Given the description of an element on the screen output the (x, y) to click on. 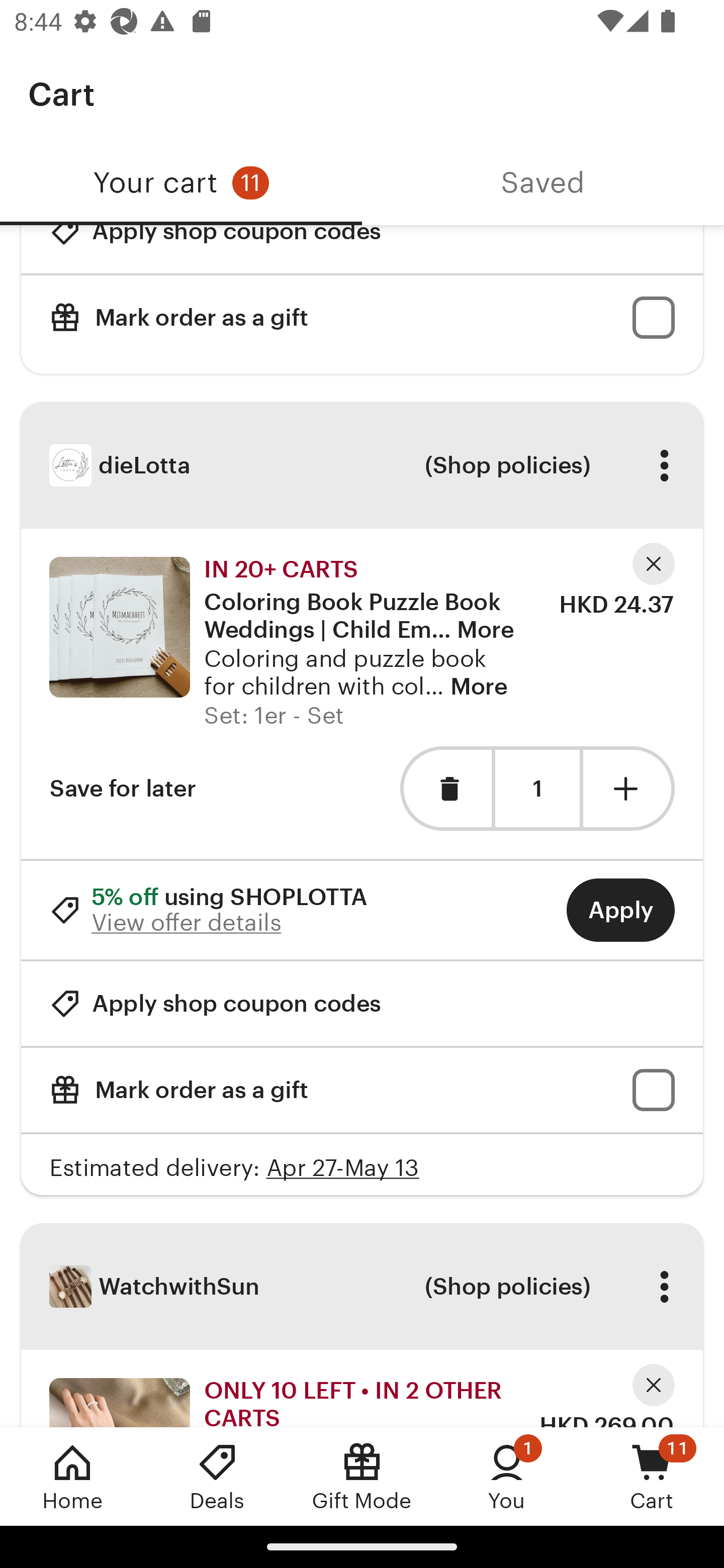
Saved, tab 2 of 2 Saved (543, 183)
Apply shop coupon codes (215, 248)
Mark order as a gift (361, 317)
dieLotta (Shop policies) More options (361, 464)
(Shop policies) (507, 465)
More options (663, 465)
Save for later (122, 788)
Remove item from cart (445, 788)
Add one unit to cart (628, 788)
1 (537, 788)
5% off using SHOPLOTTA View offer details Apply (361, 909)
Apply (620, 909)
Apply shop coupon codes (215, 1003)
Mark order as a gift (361, 1089)
WatchwithSun (Shop policies) More options (361, 1286)
(Shop policies) (507, 1286)
More options (663, 1286)
Home (72, 1475)
Deals (216, 1475)
Gift Mode (361, 1475)
You, 1 new notification You (506, 1475)
